Given the description of an element on the screen output the (x, y) to click on. 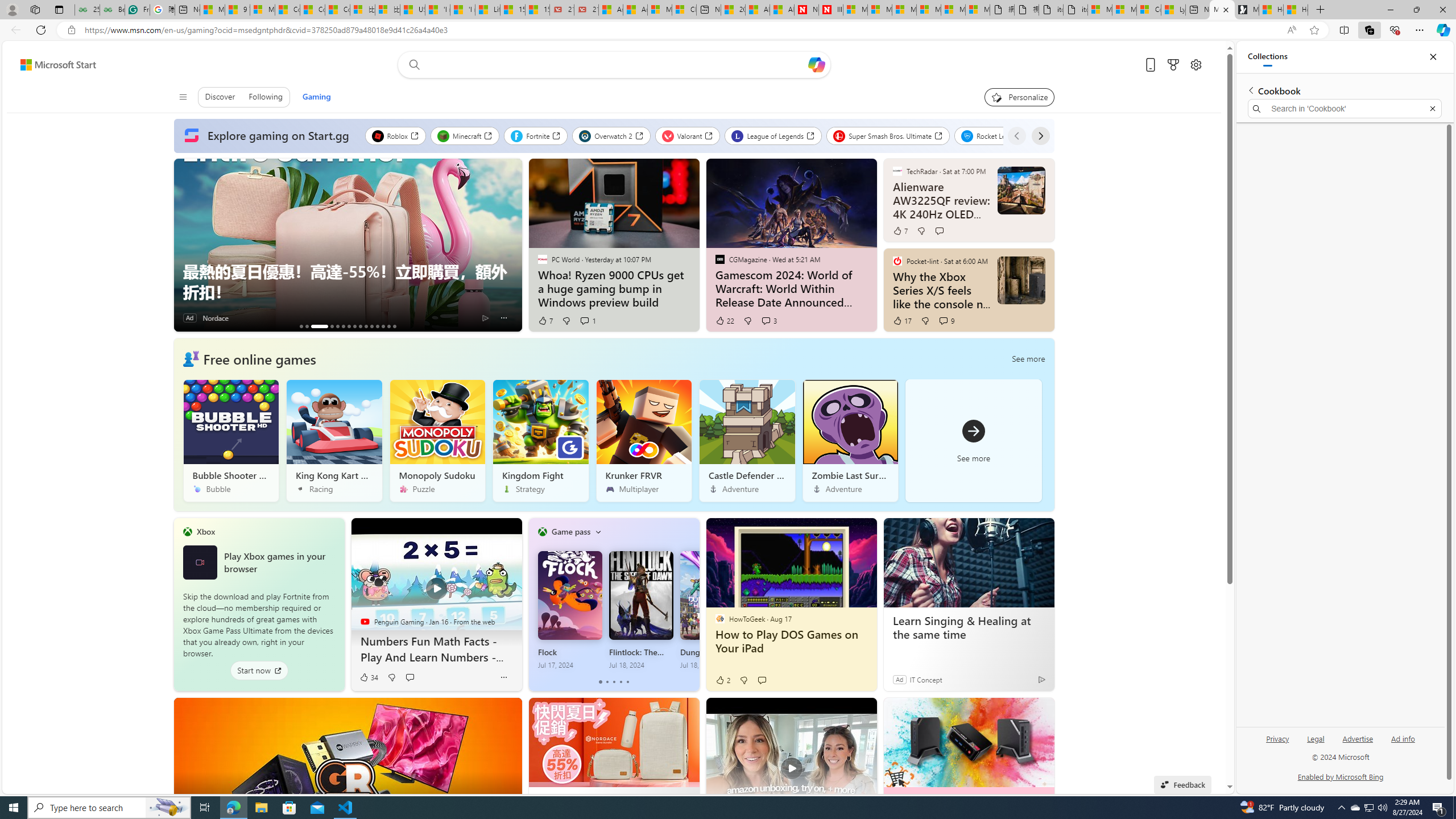
Illness news & latest pictures from Newsweek.com (830, 9)
Bubble Shooter HD (230, 440)
Free online games (258, 358)
Rocket League (996, 135)
Xbox Logo (199, 562)
Flock Jul 17, 2024 (569, 610)
Starfield: How To Use Your Spaceship (348, 326)
21 Things To Know Before Playing Star Wars Outlaws (394, 326)
Lifestyle - MSN (487, 9)
